Given the description of an element on the screen output the (x, y) to click on. 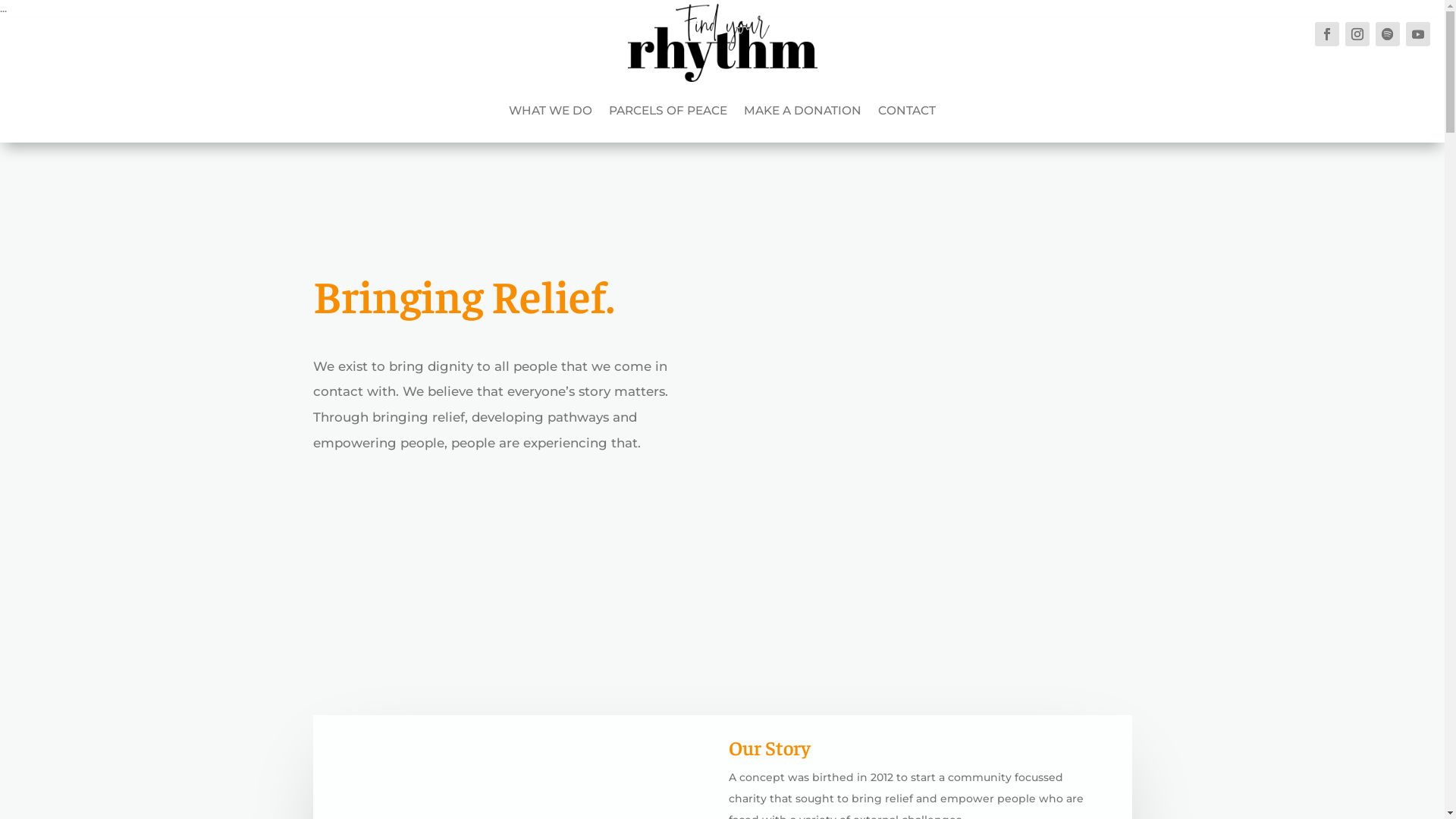
CONTACT Element type: text (906, 110)
Follow on Facebook Element type: hover (1326, 33)
Follow on Youtube Element type: hover (1417, 33)
MAKE A DONATION Element type: text (802, 110)
Follow on Instagram Element type: hover (1357, 33)
WHAT WE DO Element type: text (550, 110)
Follow on Spotify Element type: hover (1387, 33)
PARCELS OF PEACE Element type: text (667, 110)
